Given the description of an element on the screen output the (x, y) to click on. 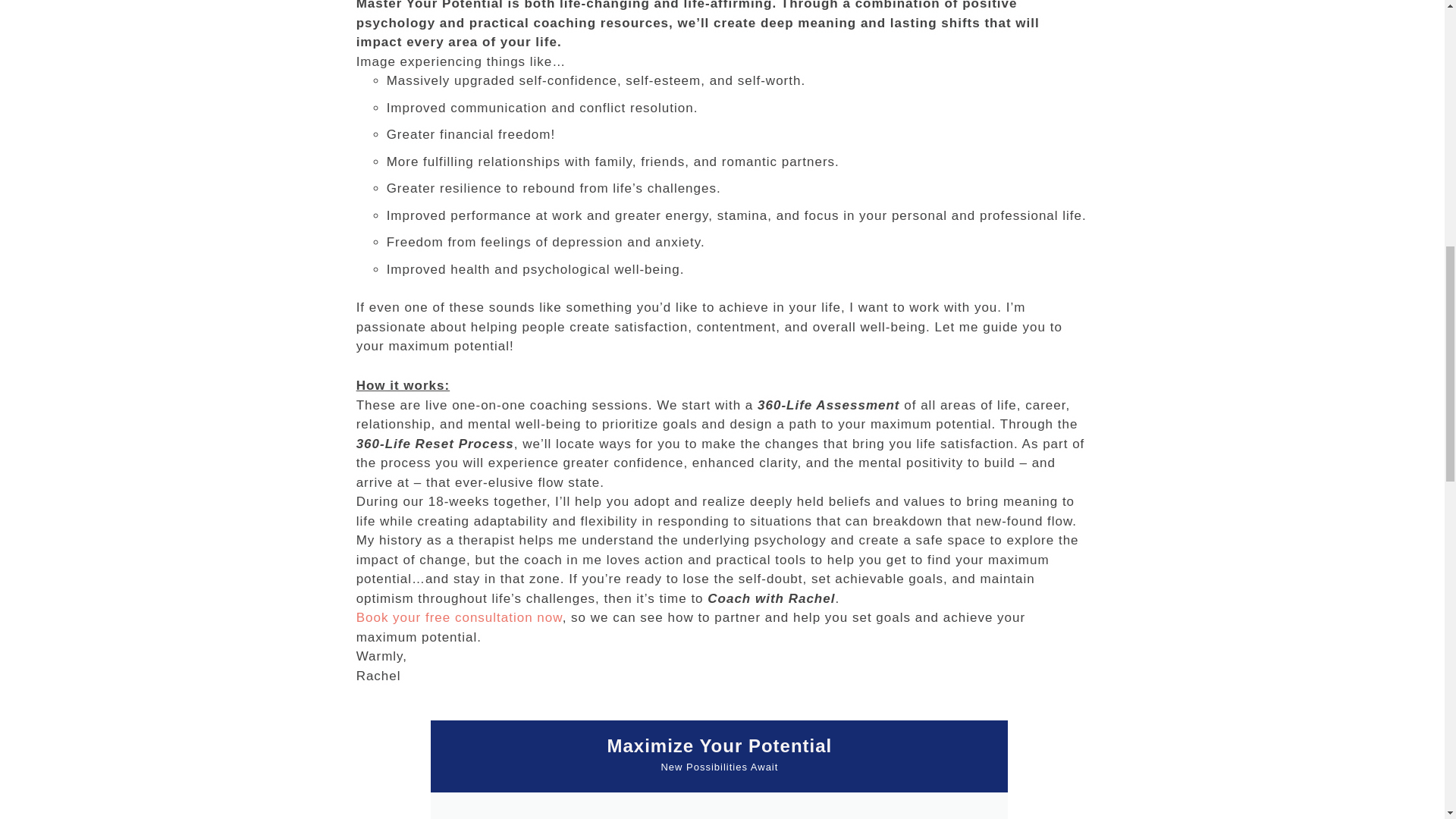
Book your free consultation now (459, 617)
